Given the description of an element on the screen output the (x, y) to click on. 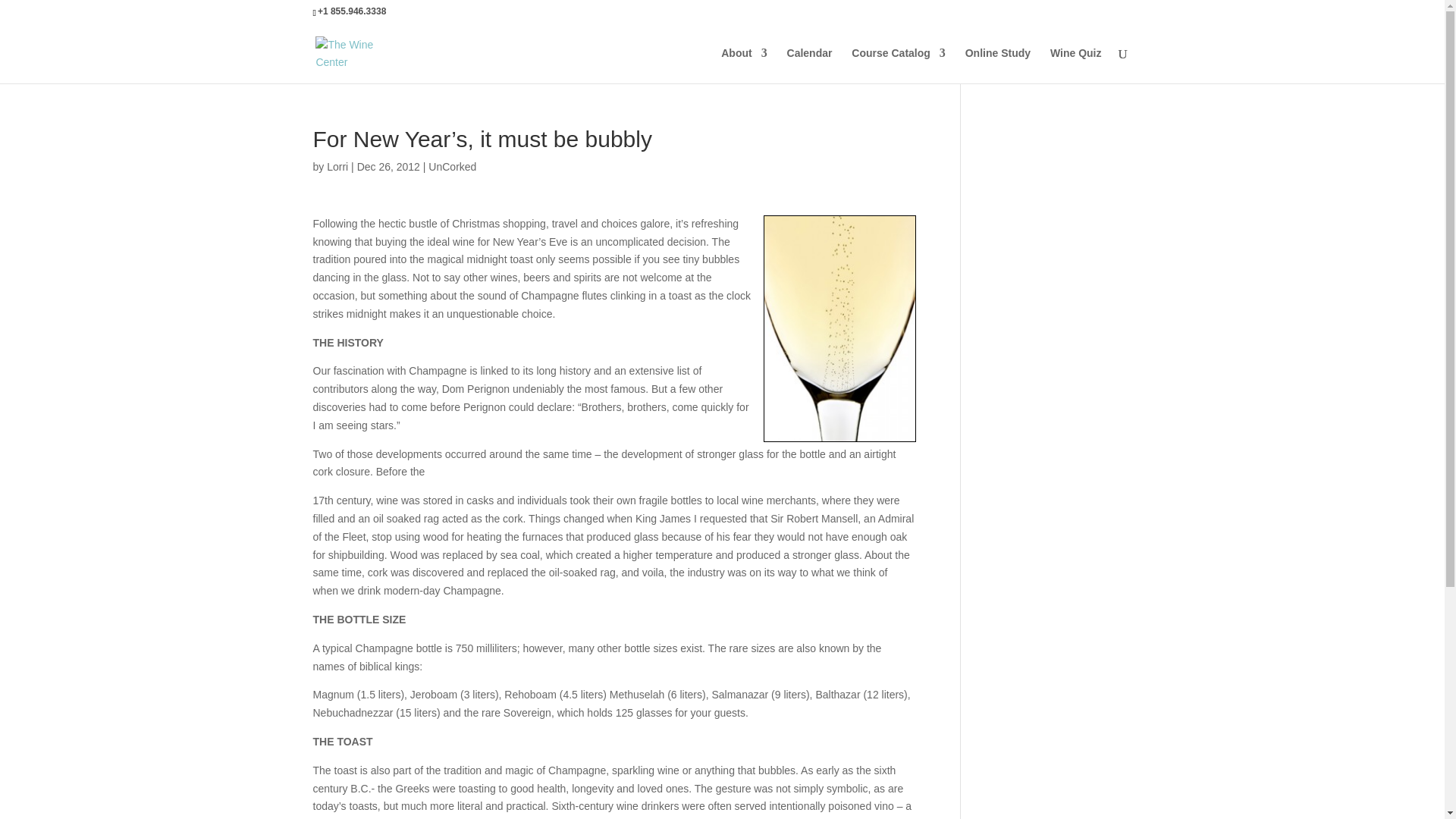
WSET Course Catalog (897, 65)
Lorri (336, 166)
Calendar (809, 65)
Wine Quiz (1075, 65)
WSET Online Global Classroom (997, 65)
UnCorked (452, 166)
Course Catalog (897, 65)
About (743, 65)
Online Study (997, 65)
About The Wine Center (743, 65)
